Given the description of an element on the screen output the (x, y) to click on. 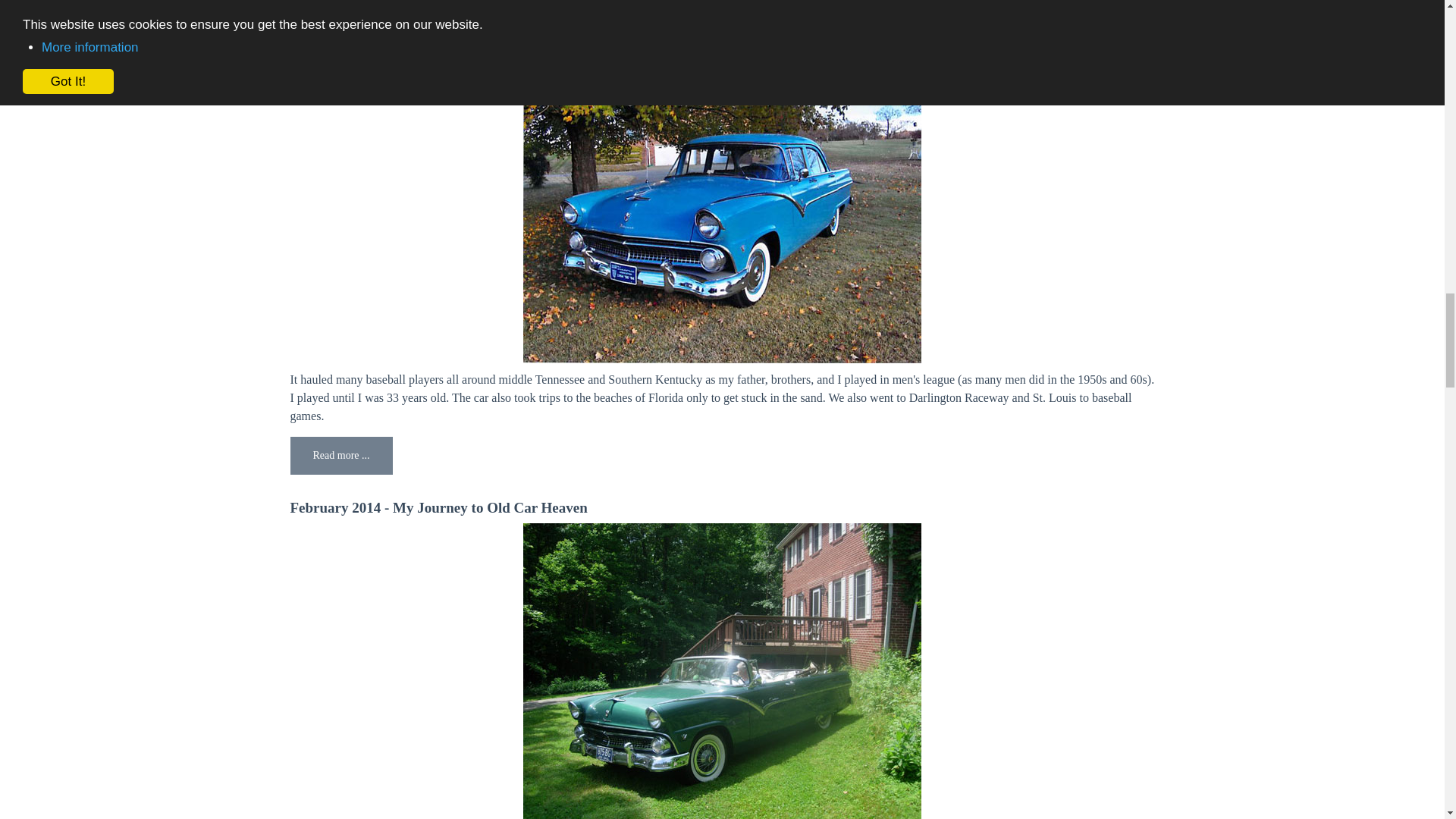
February 2014 - My Journey to Old Car Heaven (437, 507)
Read more ... (340, 455)
